Given the description of an element on the screen output the (x, y) to click on. 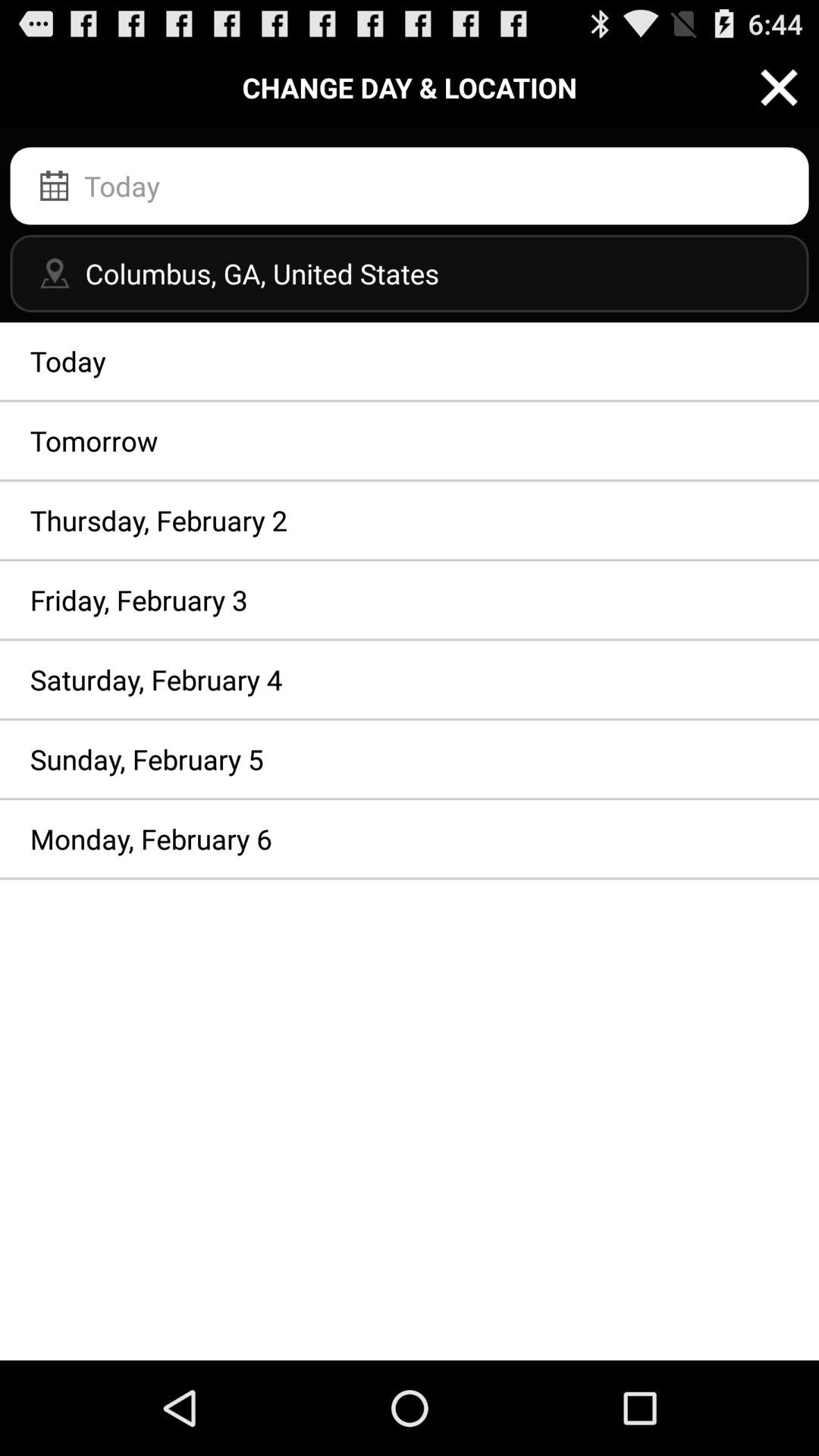
open app next to change day & location item (779, 87)
